Given the description of an element on the screen output the (x, y) to click on. 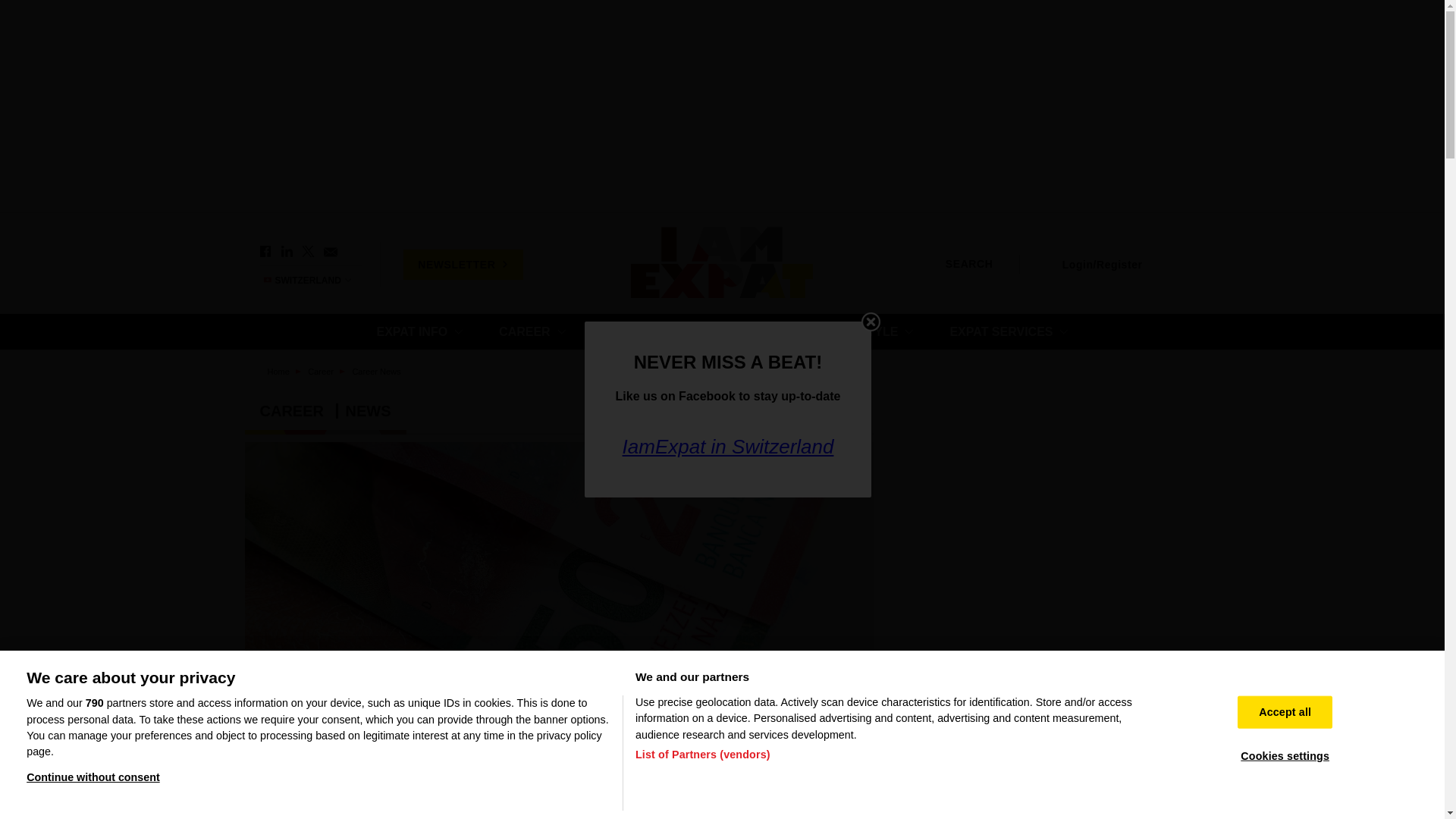
Twitter (307, 251)
Linkedin (287, 251)
Home (721, 263)
SWITZERLAND (313, 280)
NEWSLETTER (462, 263)
EXPAT INFO (419, 331)
Facebook (265, 251)
Newsletter (329, 251)
3rd party ad content (1047, 513)
